Given the description of an element on the screen output the (x, y) to click on. 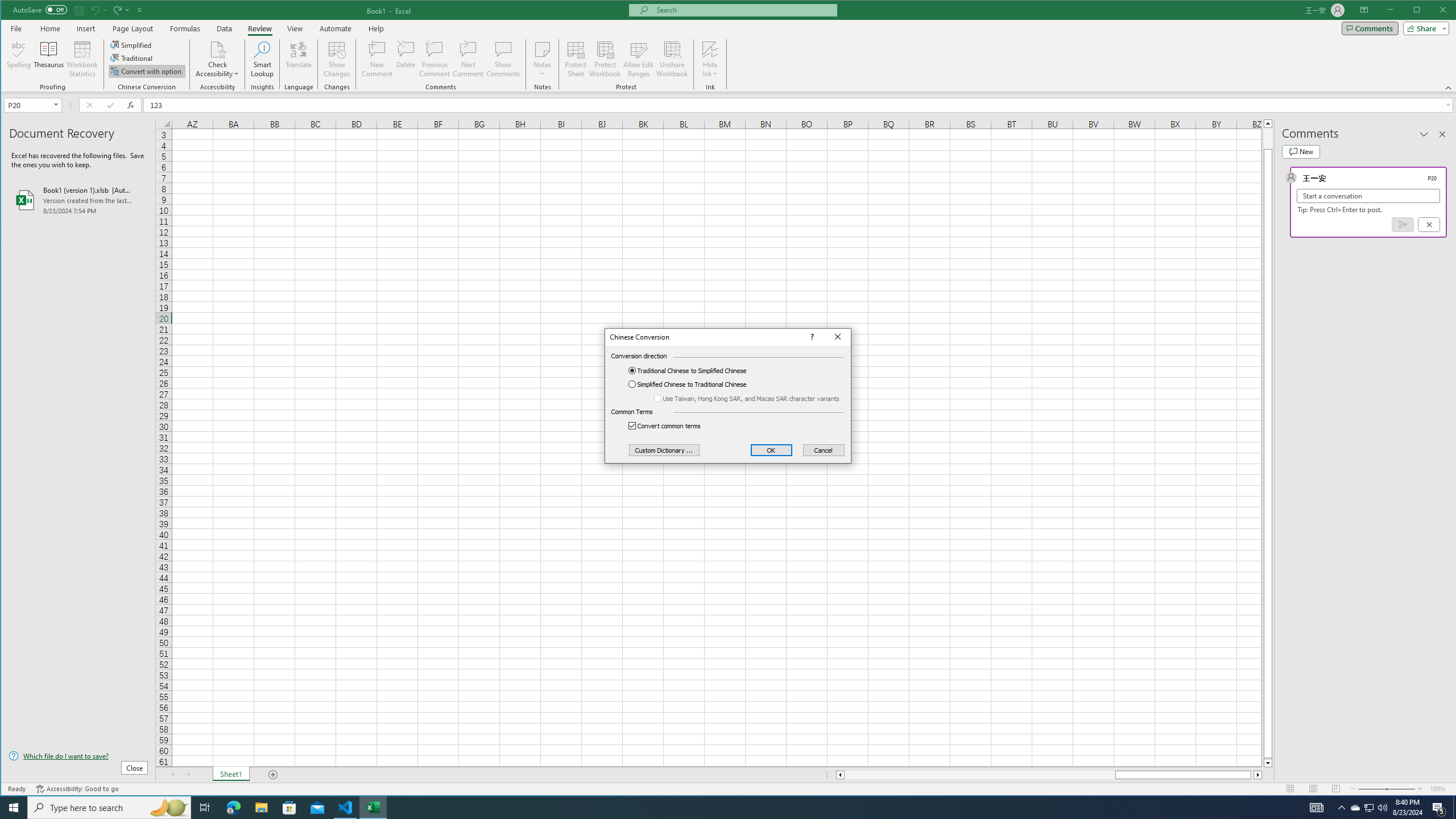
Previous Comment (434, 59)
Running applications (717, 807)
Translate (298, 59)
Microsoft Store (289, 807)
Simplified Chinese to Traditional Chinese (696, 384)
New comment (1300, 151)
Q2790: 100% (1382, 807)
Start (13, 807)
